Given the description of an element on the screen output the (x, y) to click on. 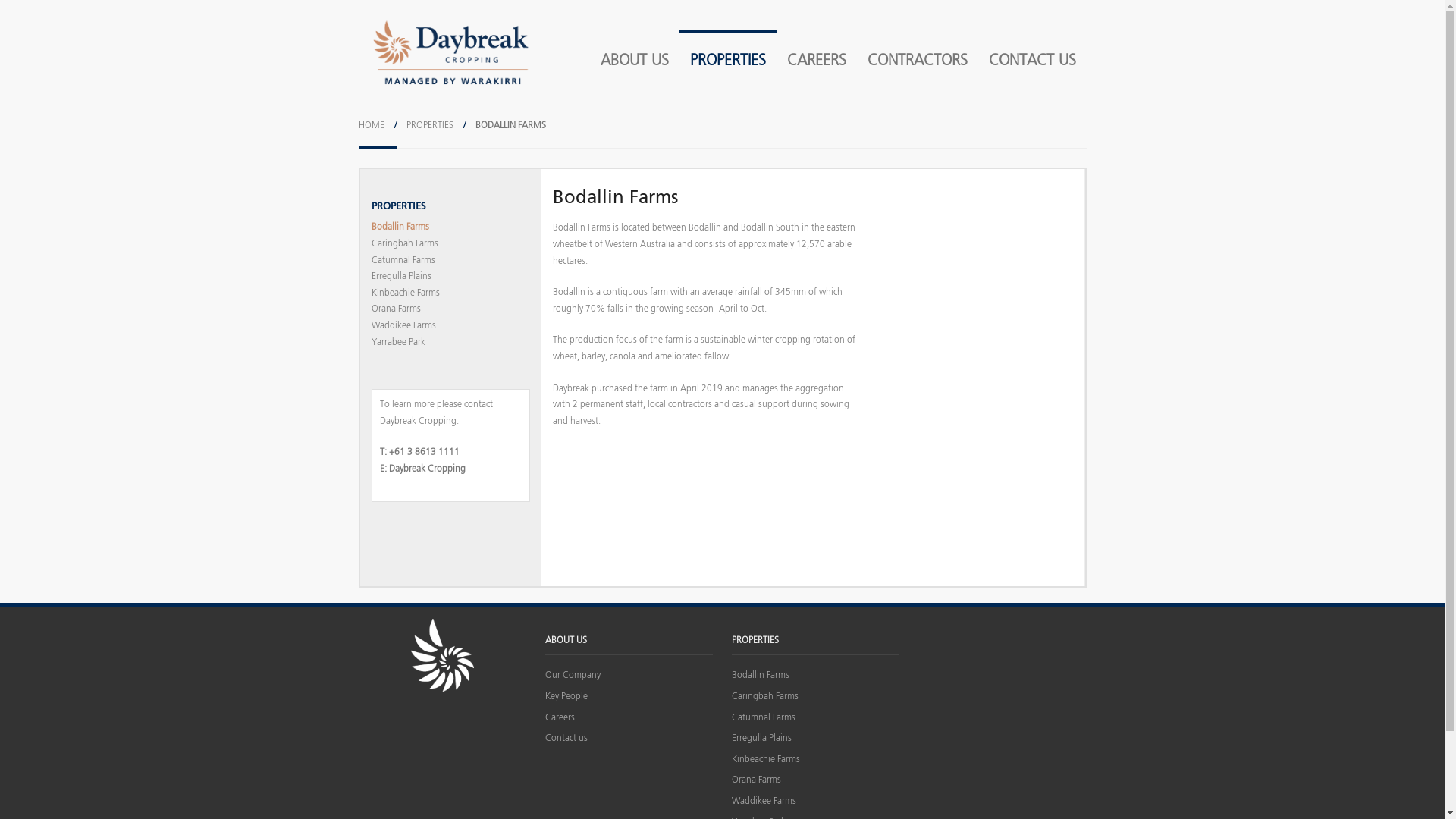
HOME Element type: text (370, 125)
Bodallin Farms Element type: text (760, 676)
CONTRACTORS Element type: text (917, 60)
Our Company Element type: text (572, 676)
PROPERTIES Element type: text (429, 125)
ABOUT US Element type: text (634, 60)
Catumnal Farms Element type: text (403, 261)
PROPERTIES Element type: text (727, 60)
Kinbeachie Farms Element type: text (765, 760)
Waddikee Farms Element type: text (763, 802)
Caringbah Farms Element type: text (764, 697)
Orana Farms Element type: text (756, 780)
Orana Farms Element type: text (395, 309)
Daybreak Cropping Element type: text (426, 468)
Contact us Element type: text (566, 739)
Catumnal Farms Element type: text (763, 718)
CAREERS Element type: text (816, 60)
CONTACT US Element type: text (1032, 60)
Careers Element type: text (559, 718)
Kinbeachie Farms Element type: text (405, 293)
Key People Element type: text (566, 697)
Caringbah Farms Element type: text (404, 244)
Yarrabee Park Element type: text (398, 343)
Bodallin Farms Element type: text (400, 227)
Waddikee Farms Element type: text (403, 326)
Erregulla Plains Element type: text (401, 277)
Erregulla Plains Element type: text (761, 739)
